Given the description of an element on the screen output the (x, y) to click on. 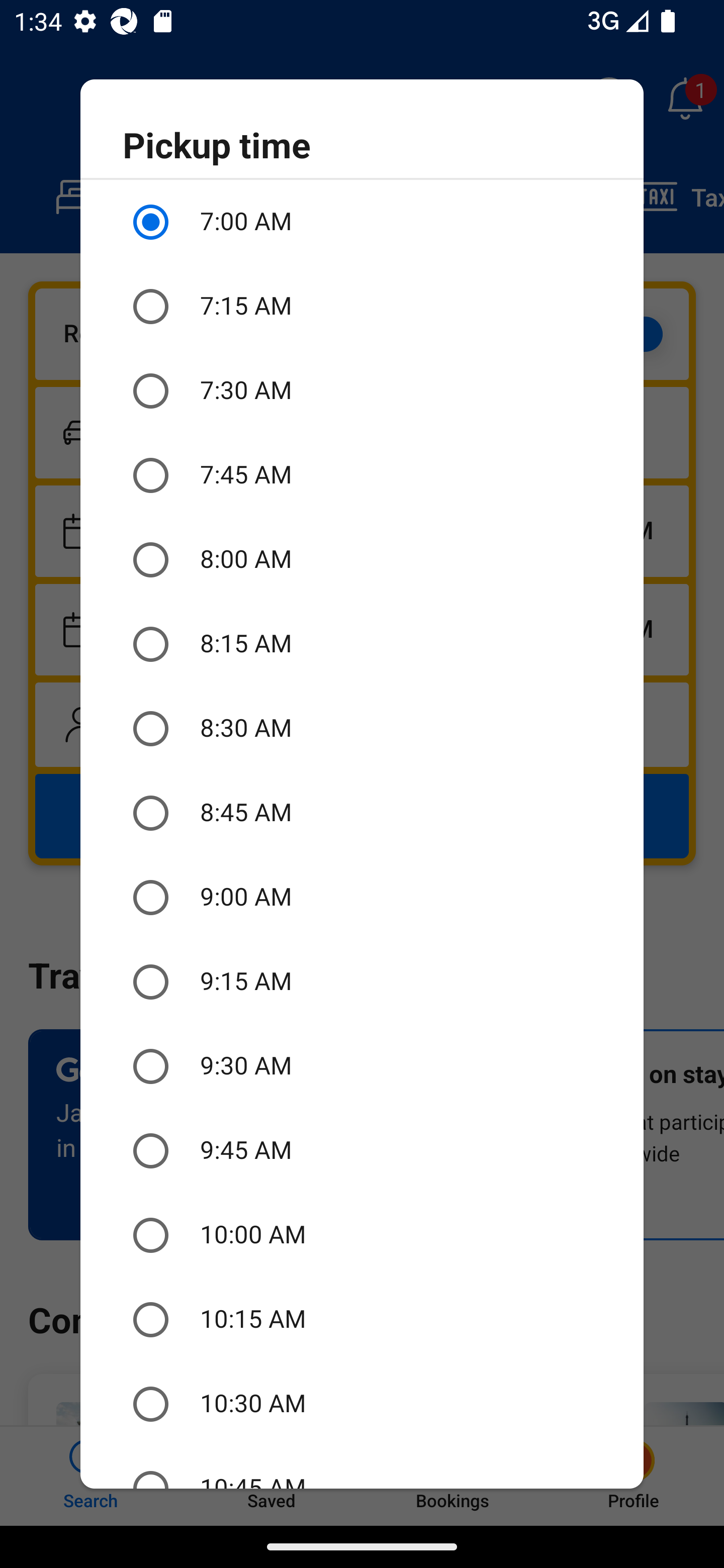
7:00 AM (361, 222)
7:15 AM (361, 306)
7:30 AM (361, 390)
7:45 AM (361, 474)
8:00 AM (361, 559)
8:15 AM (361, 644)
8:30 AM (361, 728)
8:45 AM (361, 813)
9:00 AM (361, 897)
9:15 AM (361, 981)
9:30 AM (361, 1065)
9:45 AM (361, 1150)
10:00 AM (361, 1235)
10:15 AM (361, 1319)
10:30 AM (361, 1403)
